Given the description of an element on the screen output the (x, y) to click on. 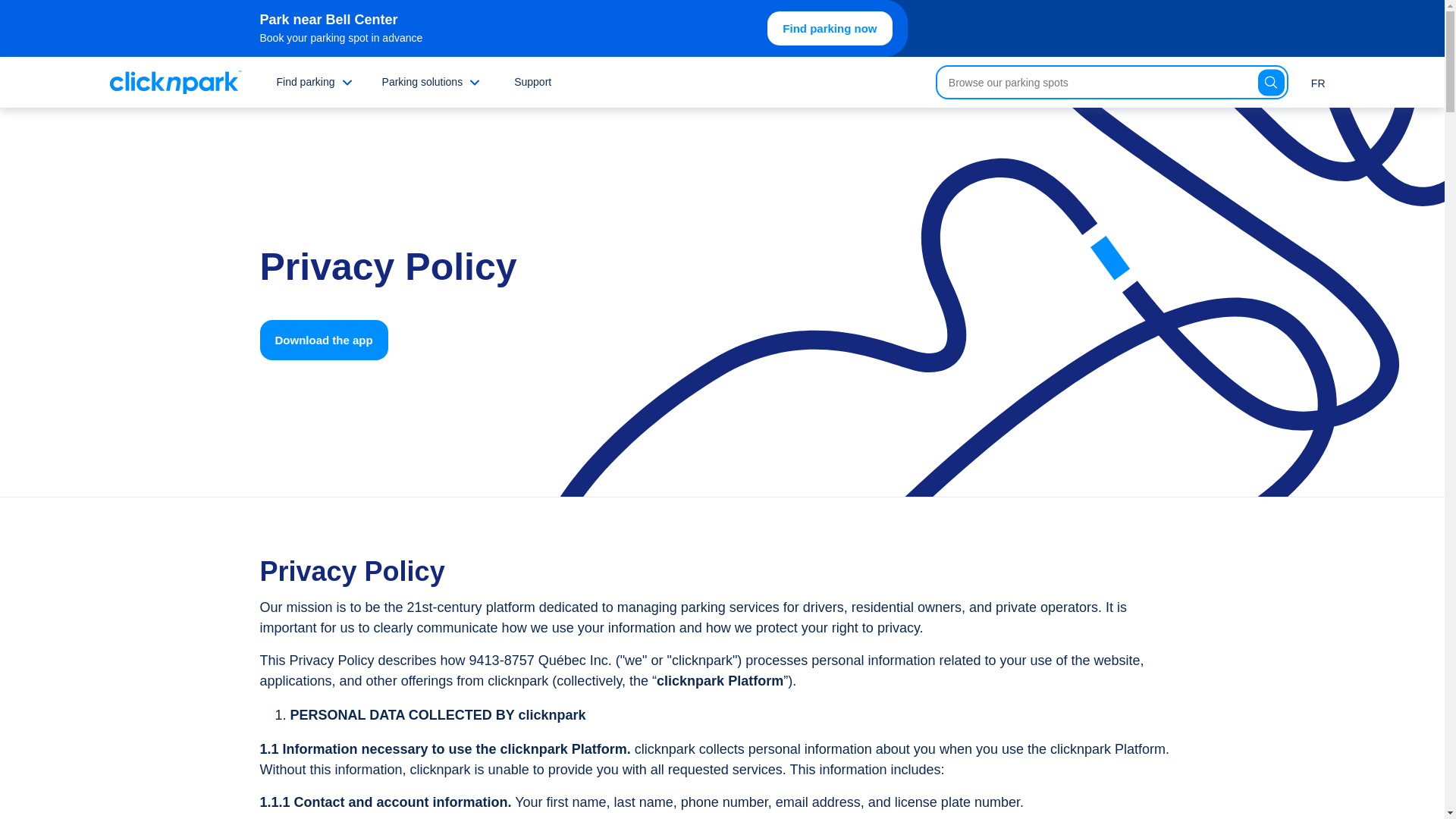
Find parking now (829, 28)
Support (532, 81)
FR (1318, 81)
Download the app (323, 340)
